Given the description of an element on the screen output the (x, y) to click on. 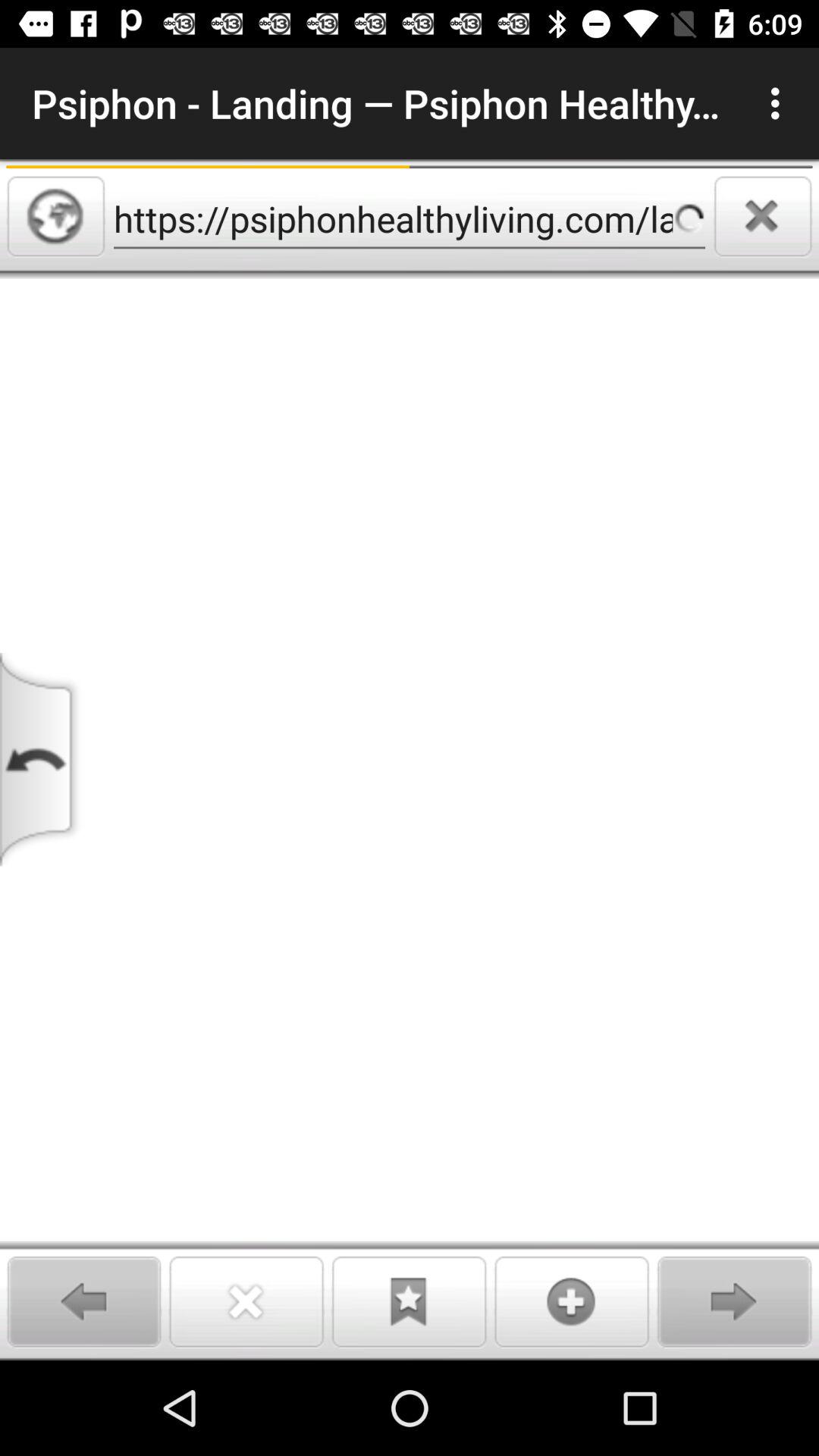
stop page load (762, 216)
